Given the description of an element on the screen output the (x, y) to click on. 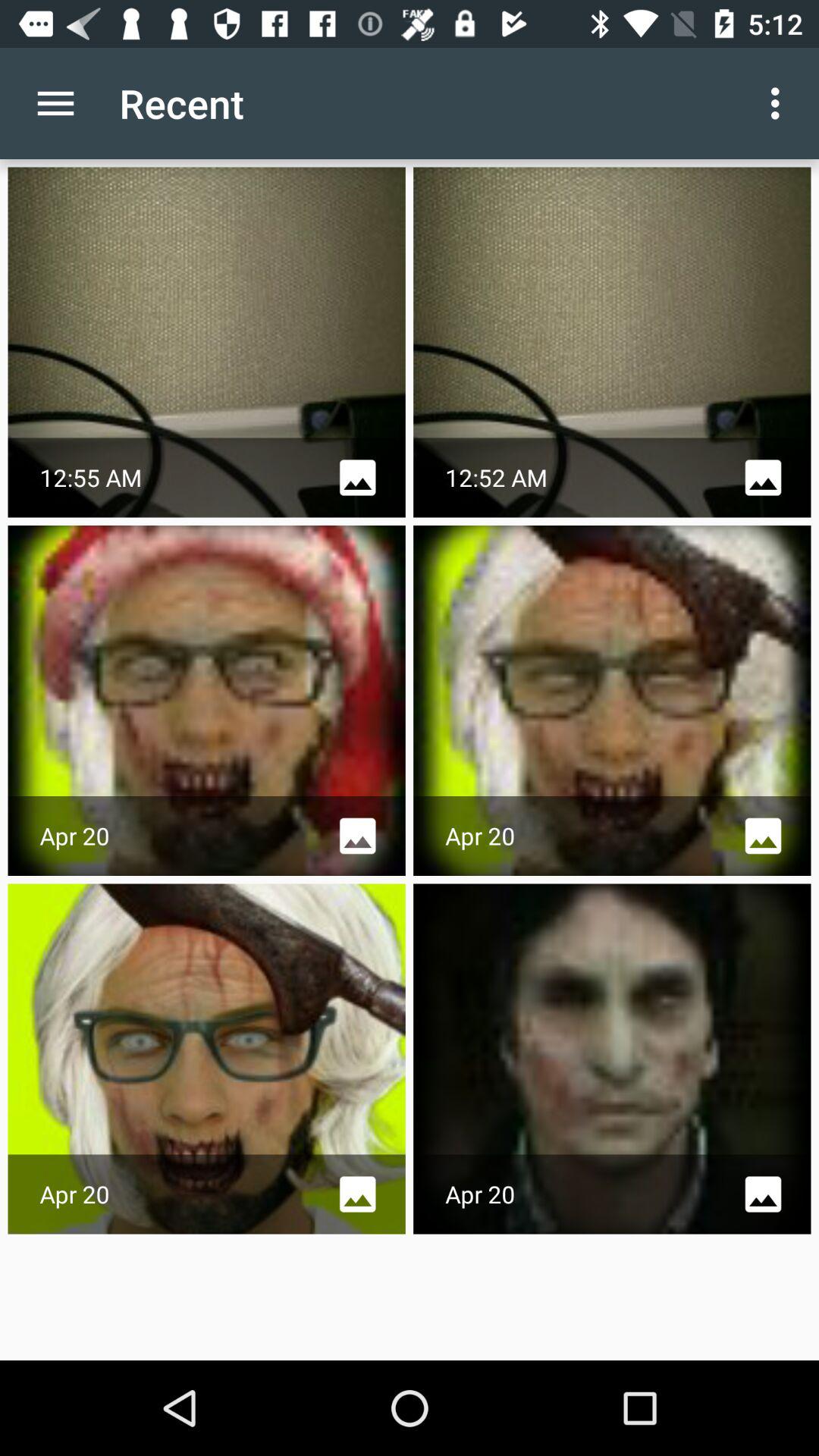
choose item to the left of recent (55, 103)
